Given the description of an element on the screen output the (x, y) to click on. 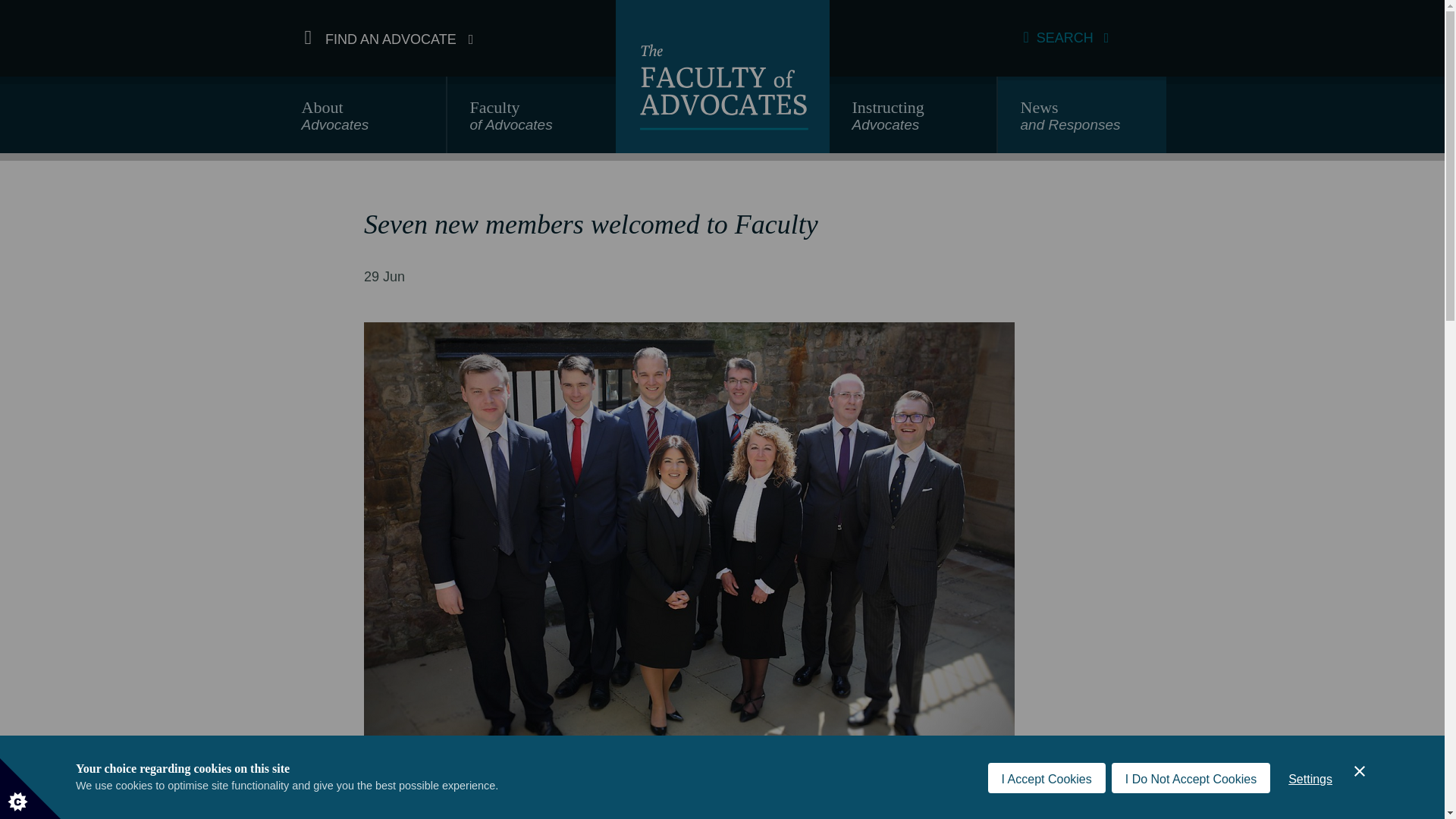
FIND AN ADVOCATE (389, 38)
SEARCH (912, 122)
Settings (362, 122)
